Given the description of an element on the screen output the (x, y) to click on. 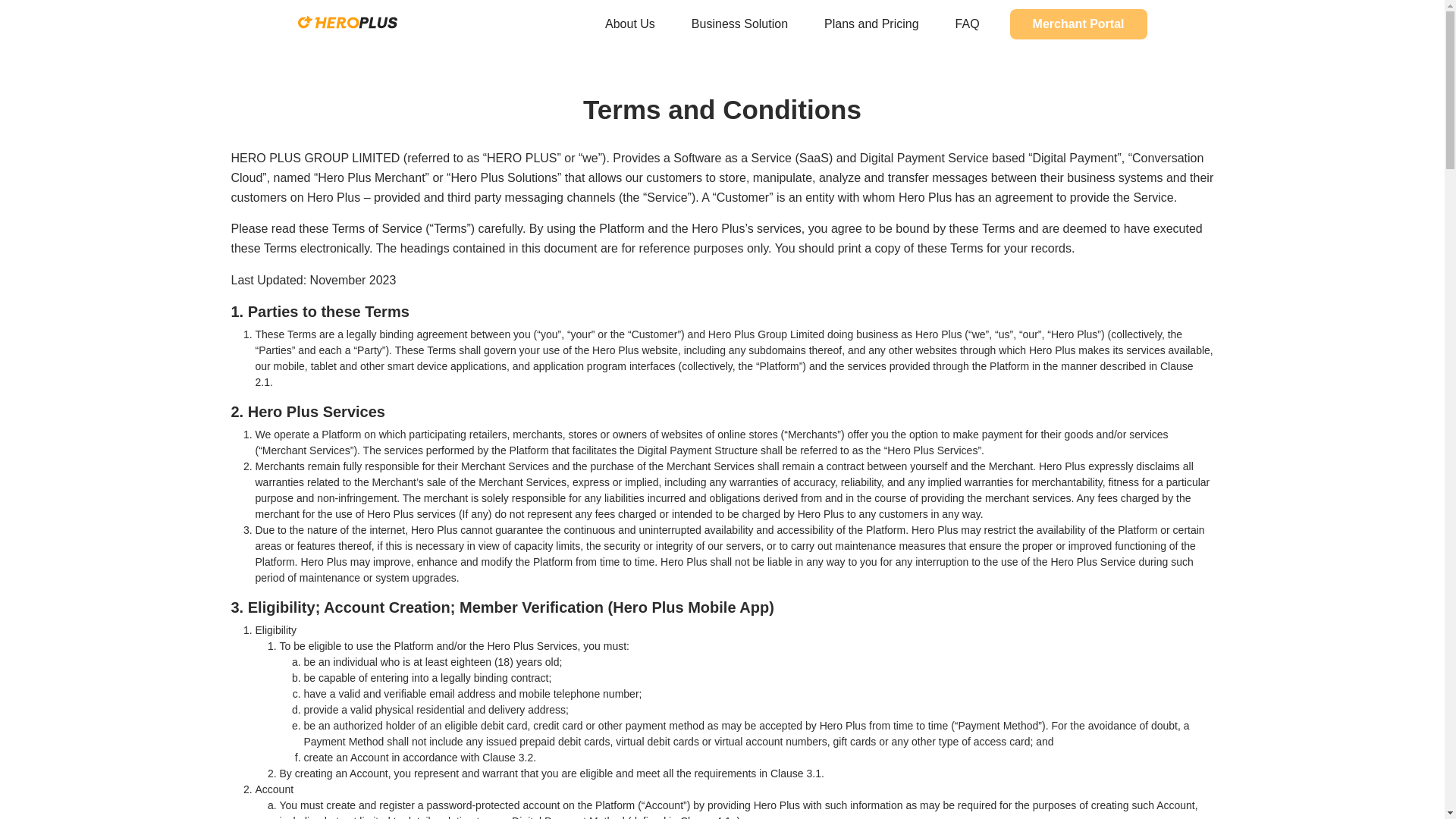
Business Solution (739, 23)
Merchant Portal (1078, 24)
About Us (629, 23)
Plans and Pricing (871, 23)
FAQ (967, 23)
